Given the description of an element on the screen output the (x, y) to click on. 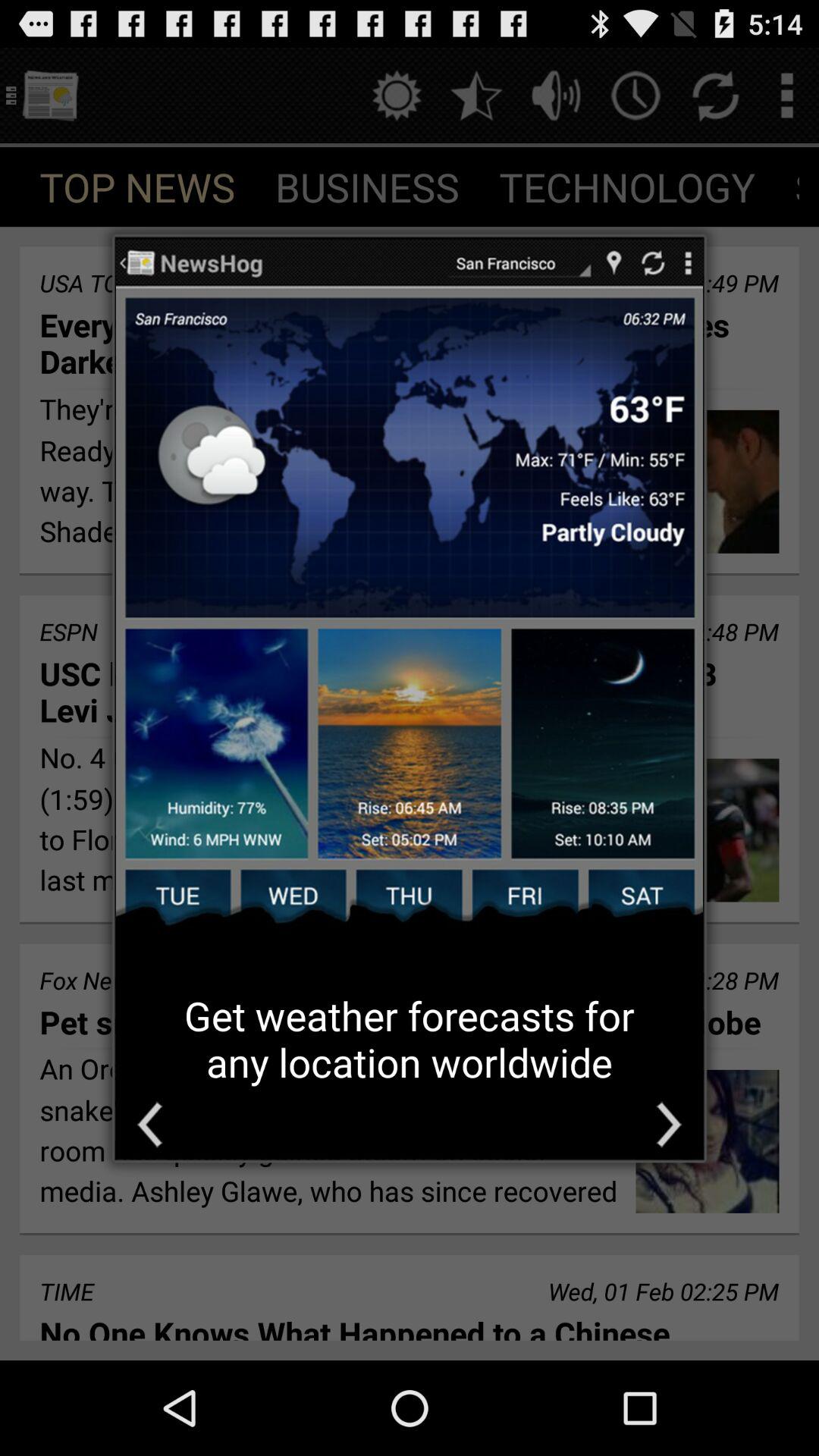
go bacl (149, 1124)
